Given the description of an element on the screen output the (x, y) to click on. 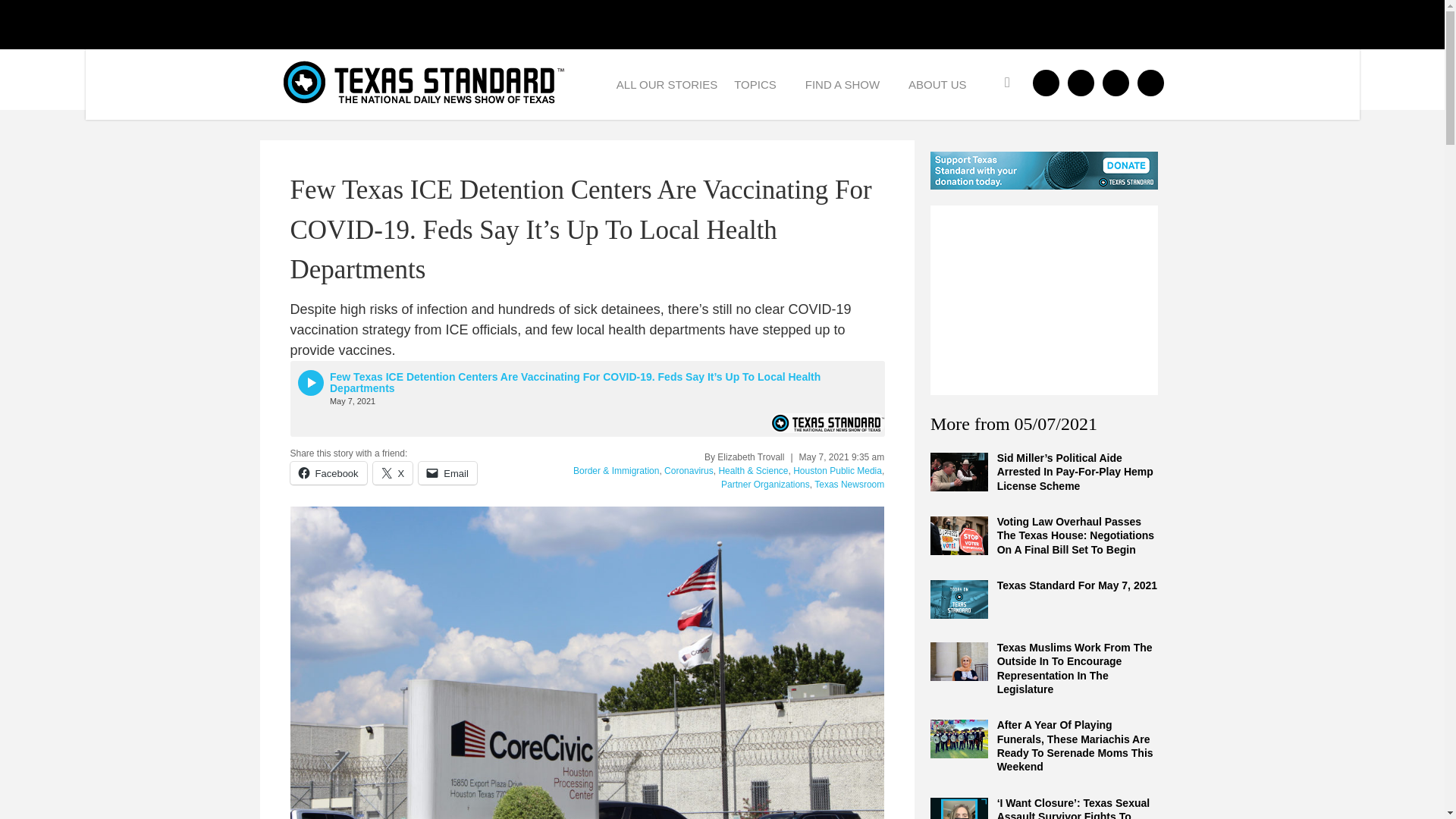
TOPICS (761, 82)
Click to email a link to a friend (448, 472)
3rd party ad content (1043, 299)
Media player (586, 398)
ALL OUR STORIES (666, 82)
Click to share on Facebook (327, 472)
Click to share on X (392, 472)
